Given the description of an element on the screen output the (x, y) to click on. 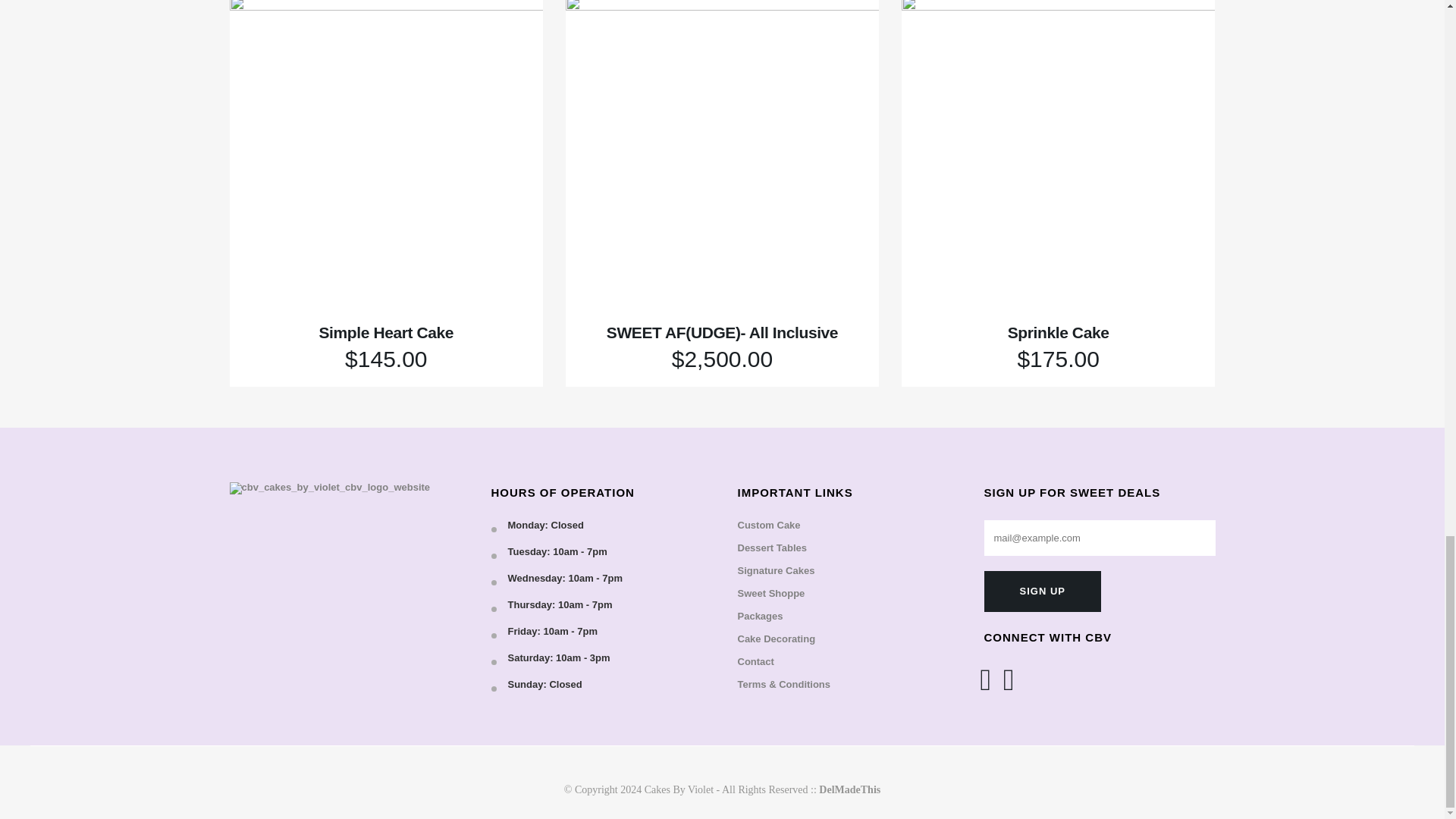
SIGN UP (1042, 590)
